Given the description of an element on the screen output the (x, y) to click on. 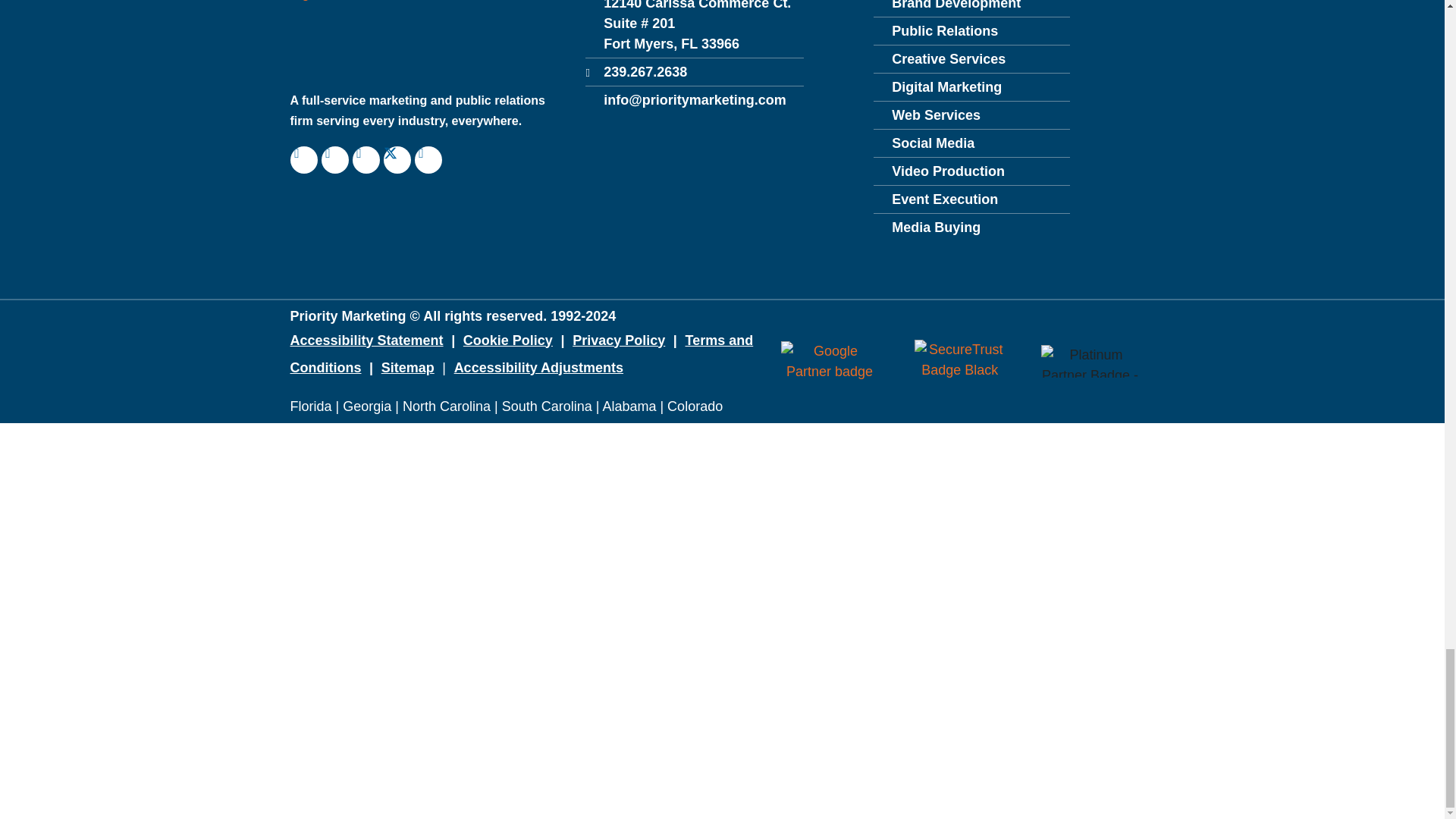
PartnerBadgeClickable-Google (829, 361)
